Given the description of an element on the screen output the (x, y) to click on. 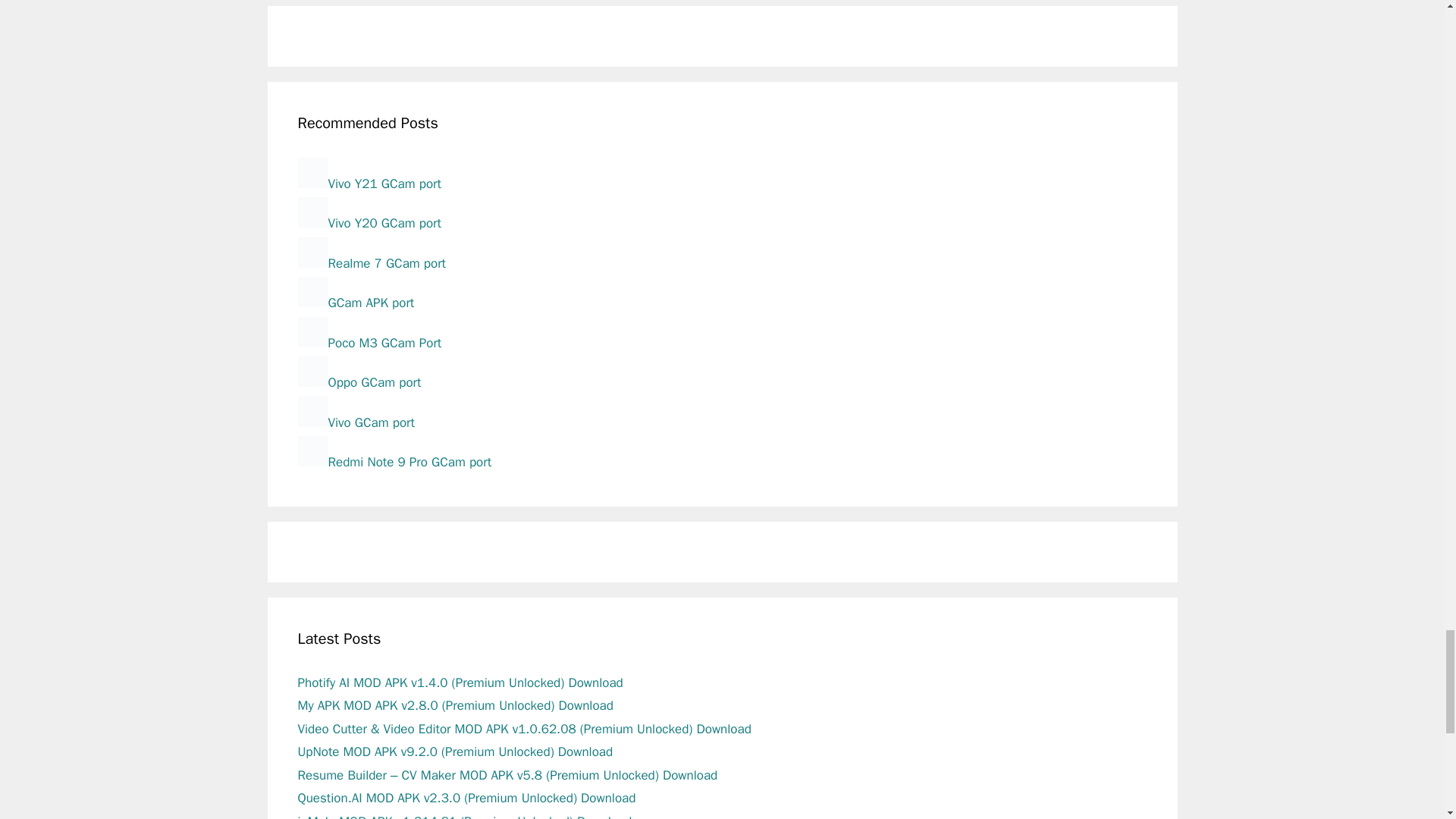
Download Google Camera apk port for vivo Y20 (369, 222)
Vivo Y21 GCam port (369, 183)
GCam port for Redmi Note 9 Pro (394, 462)
Download Google Camera apk port for vivo Y21 (369, 183)
GCam port download (355, 302)
Download Google Camera apk port for Realme 7 (371, 263)
Google camera port for Vivo (355, 422)
Google camera port for oppo (358, 382)
Download GCam port for Poco M3 Download (369, 342)
